Given the description of an element on the screen output the (x, y) to click on. 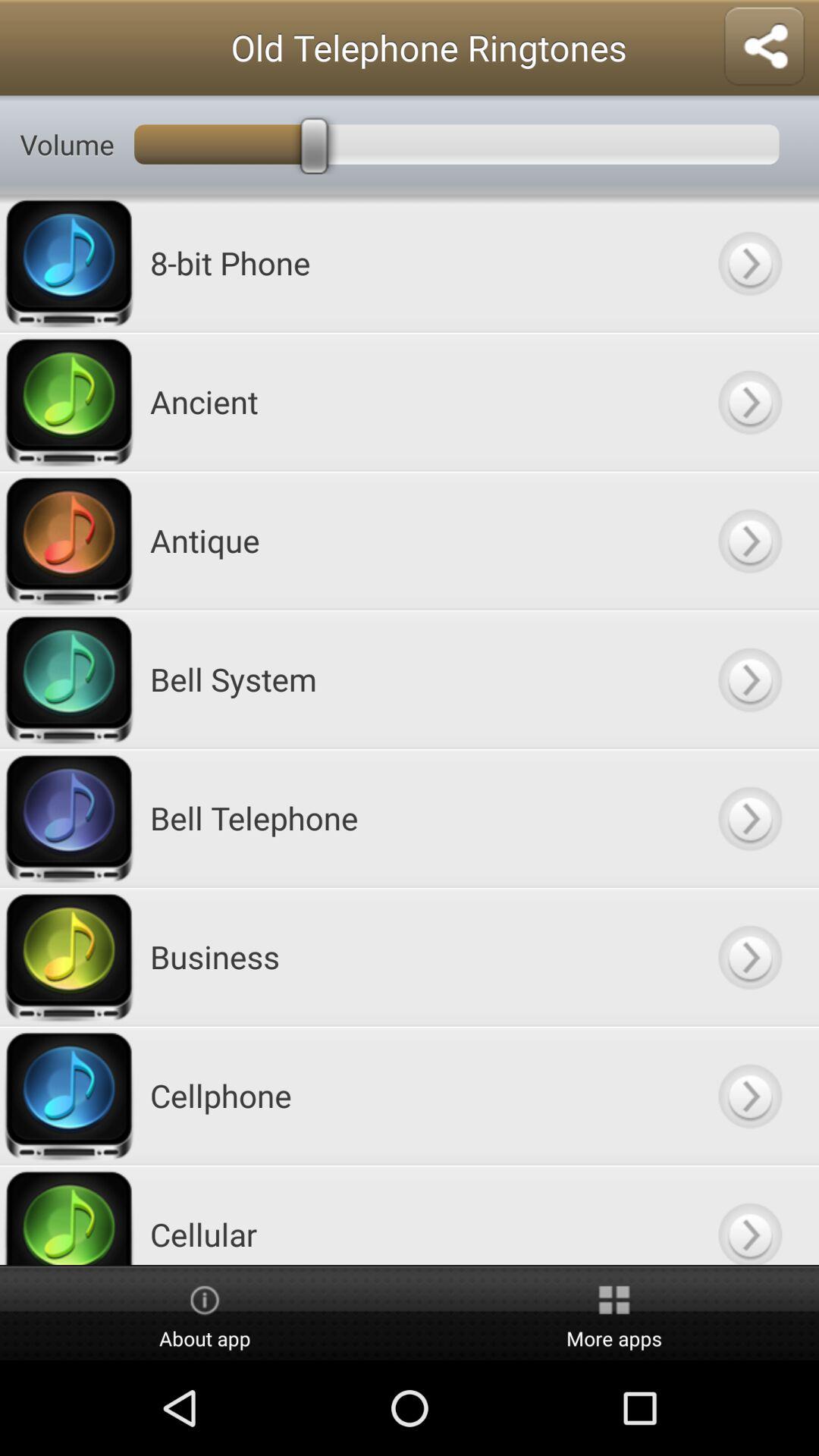
select ringtone (749, 401)
